Given the description of an element on the screen output the (x, y) to click on. 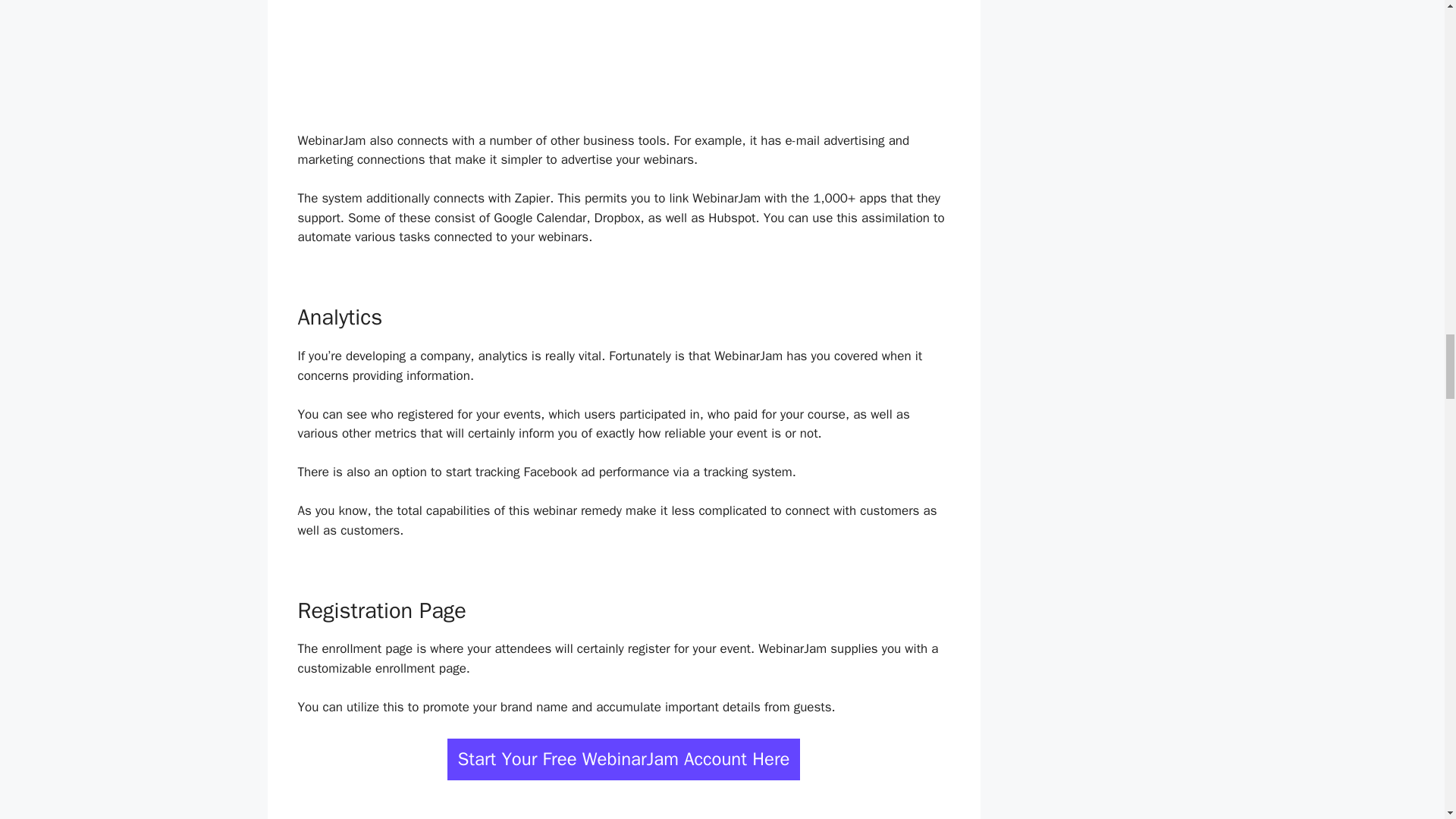
Start Your Free WebinarJam Account Here (622, 759)
